Given the description of an element on the screen output the (x, y) to click on. 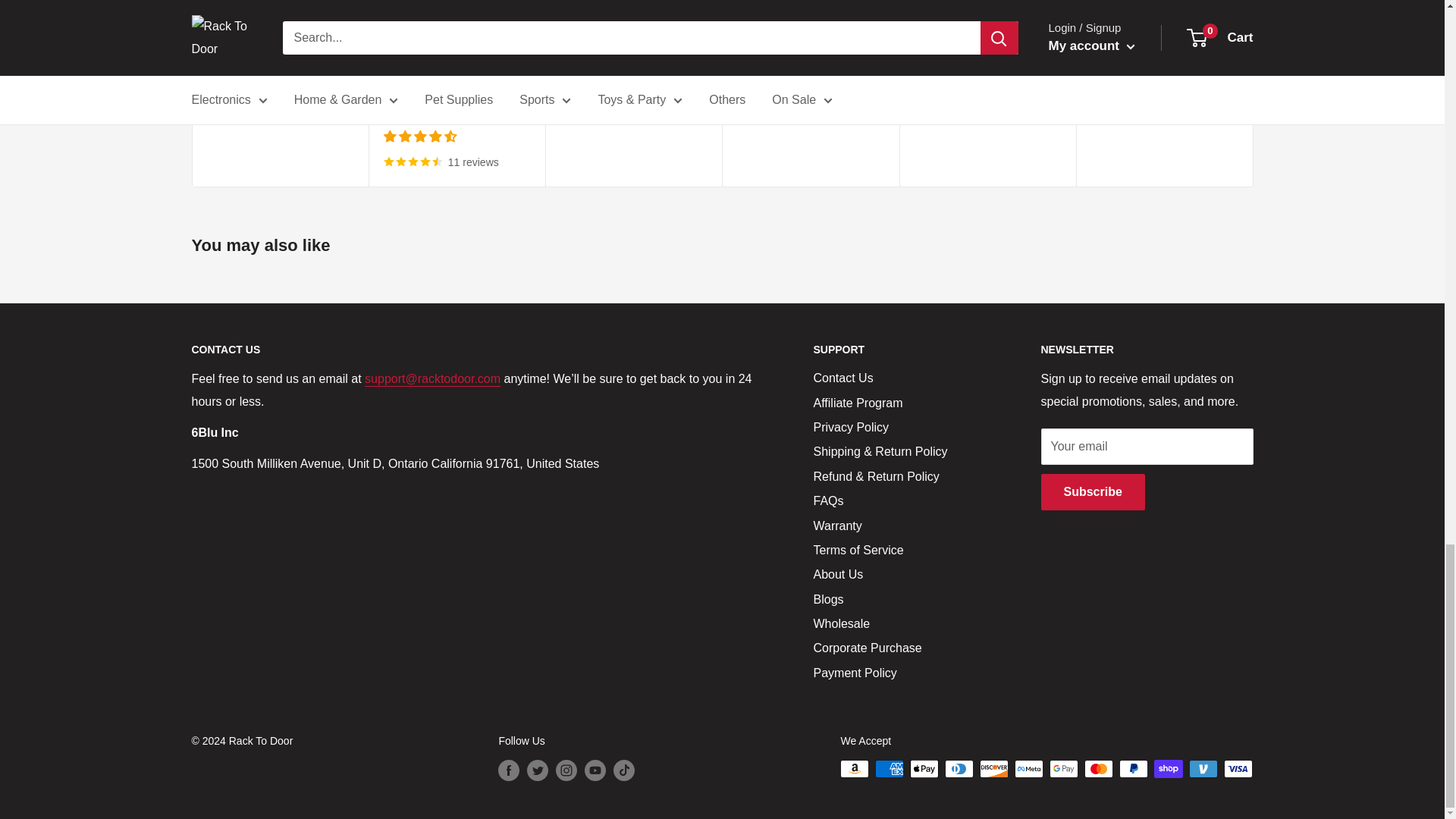
Grey (393, 107)
Black (746, 54)
White (769, 54)
